Given the description of an element on the screen output the (x, y) to click on. 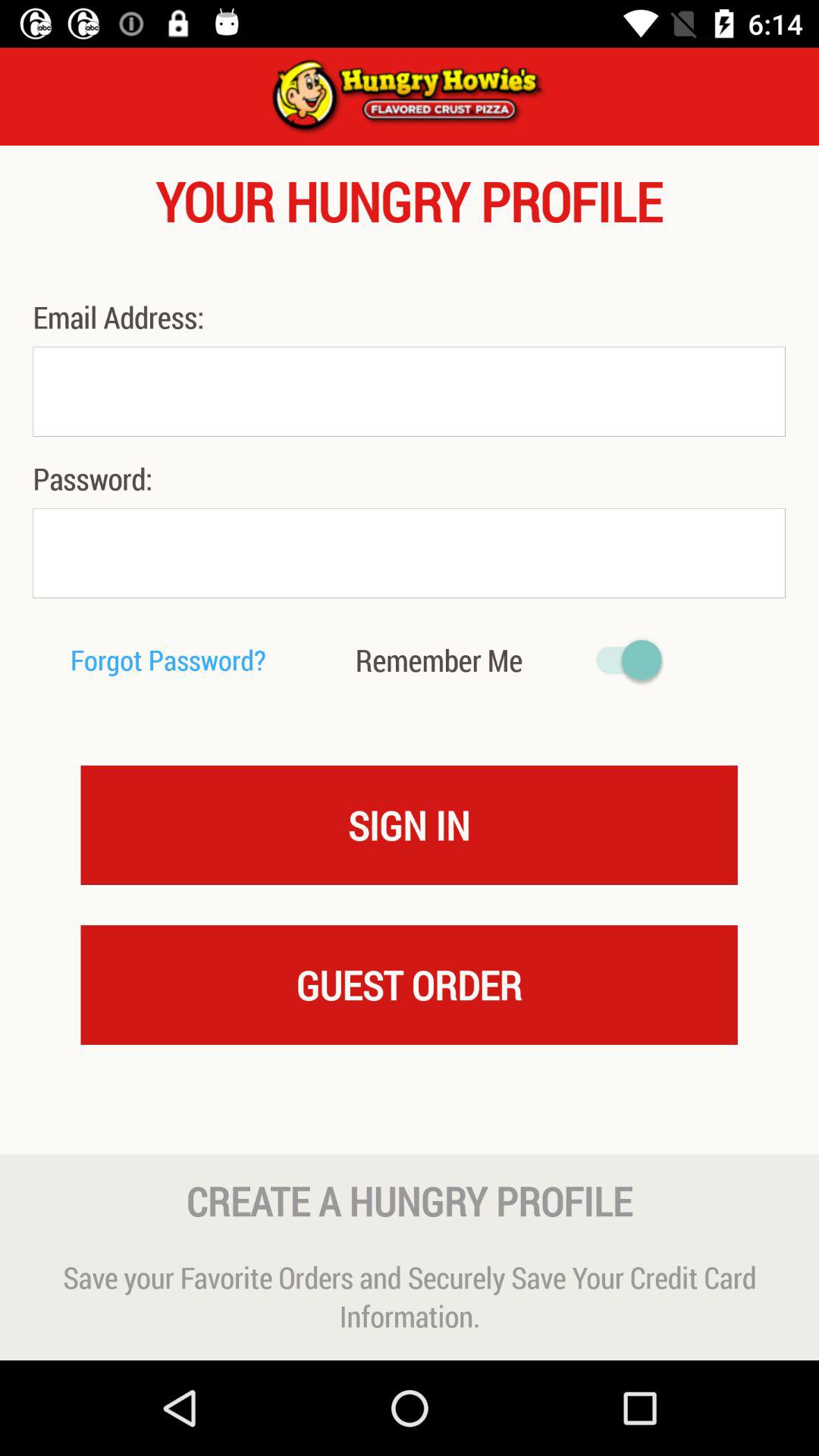
click the save your favorite (409, 1296)
